Given the description of an element on the screen output the (x, y) to click on. 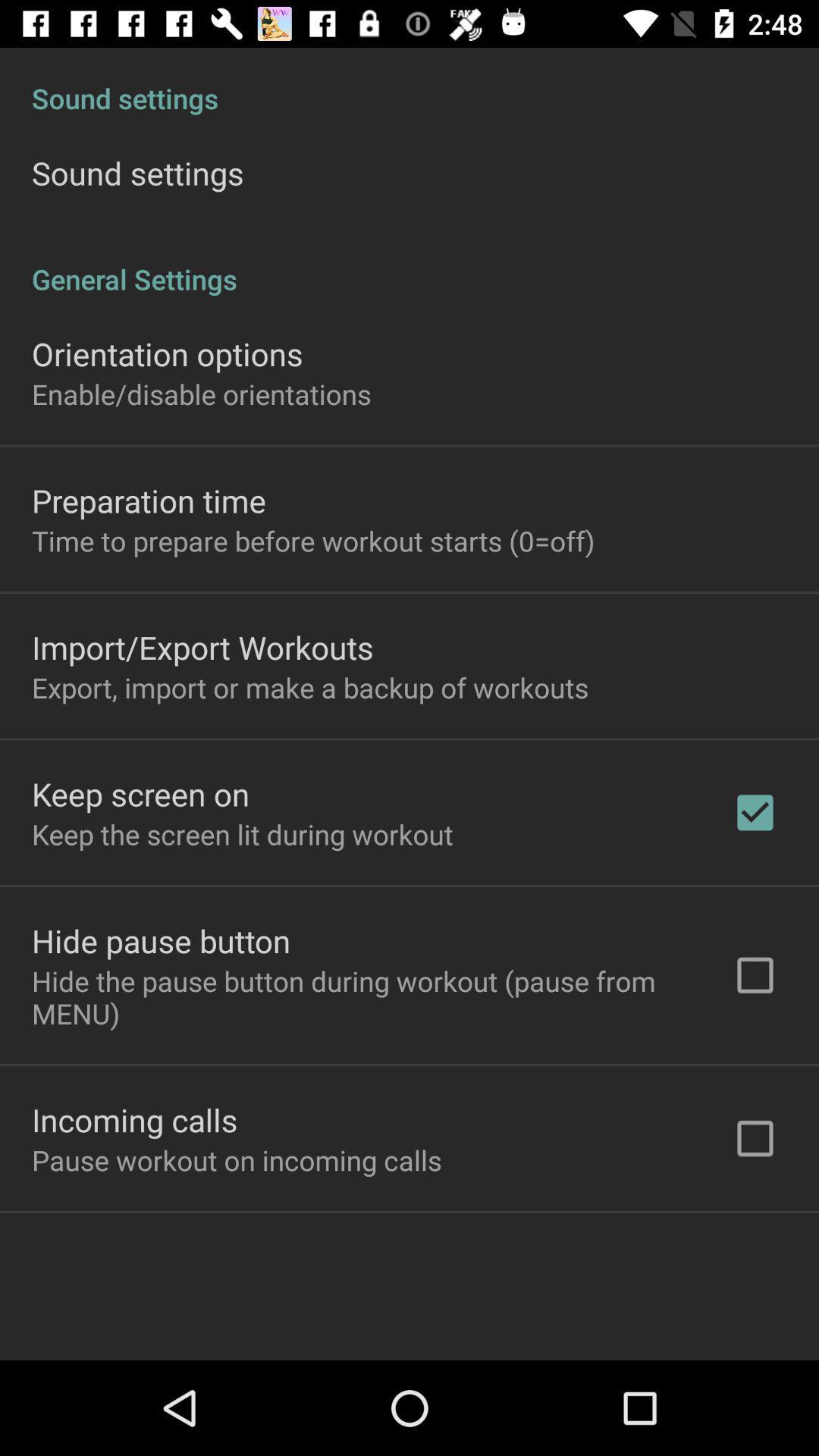
tap the time to prepare (312, 540)
